Given the description of an element on the screen output the (x, y) to click on. 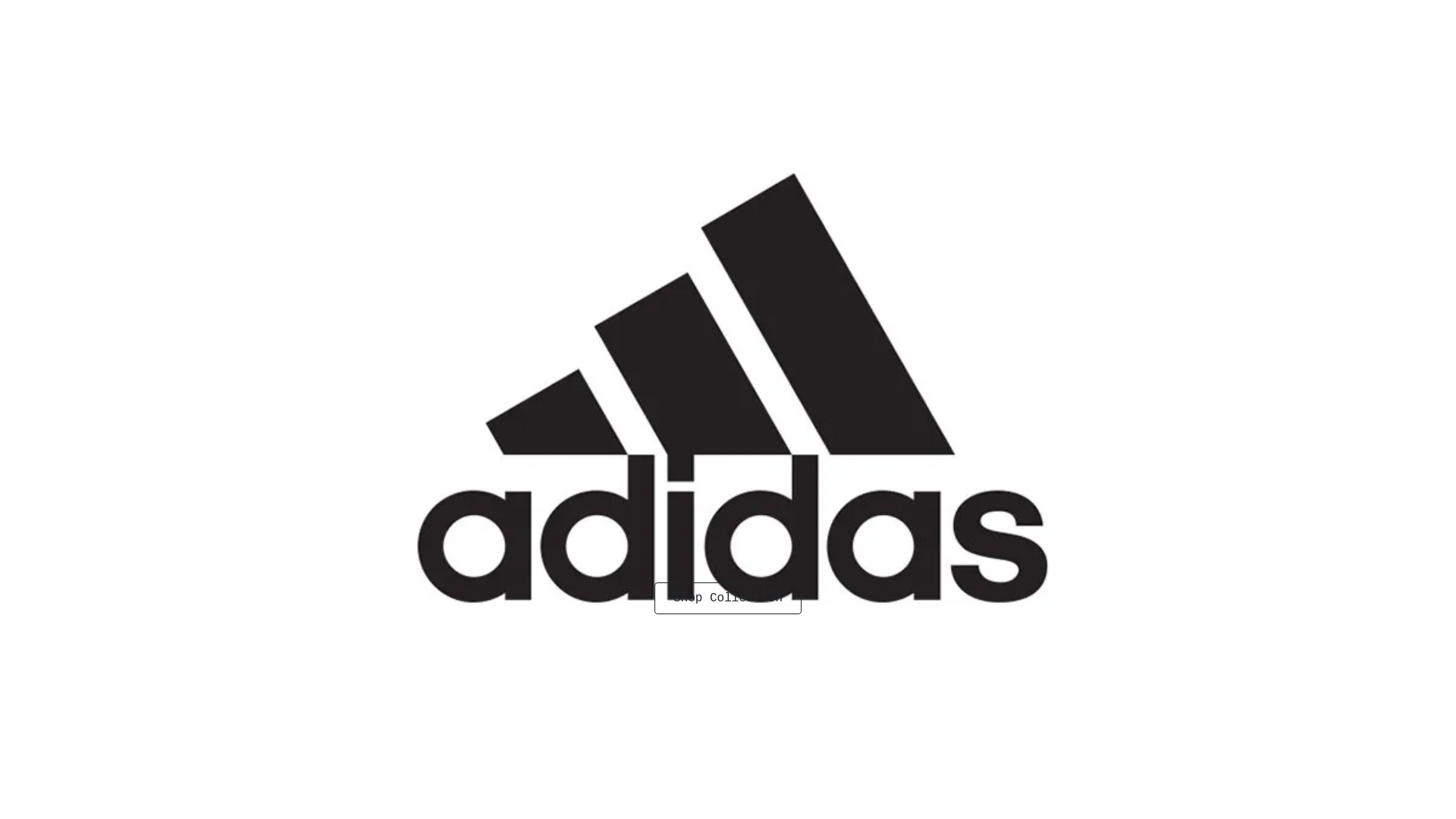
Home Element type: text (336, 275)
ADIDAS CANADA ONLINE Element type: text (701, 224)
ADIDAS CANADA Element type: text (378, 224)
adidas ultra boost lego canada Element type: text (959, 353)
Search Element type: text (941, 332)
Adidas Canada Element type: text (811, 16)
ADIDAS CANADA YEEZY RETURN Element type: text (529, 224)
adidas tote bag canada Element type: text (942, 367)
Adidas Canada Online Element type: text (1072, 16)
Adidas Canada Online Element type: text (409, 275)
Adidas Canada Yeezy Return Element type: text (934, 16)
adidas canada Element type: text (922, 308)
adidas ultra boost shoes canada Element type: text (962, 323)
